Given the description of an element on the screen output the (x, y) to click on. 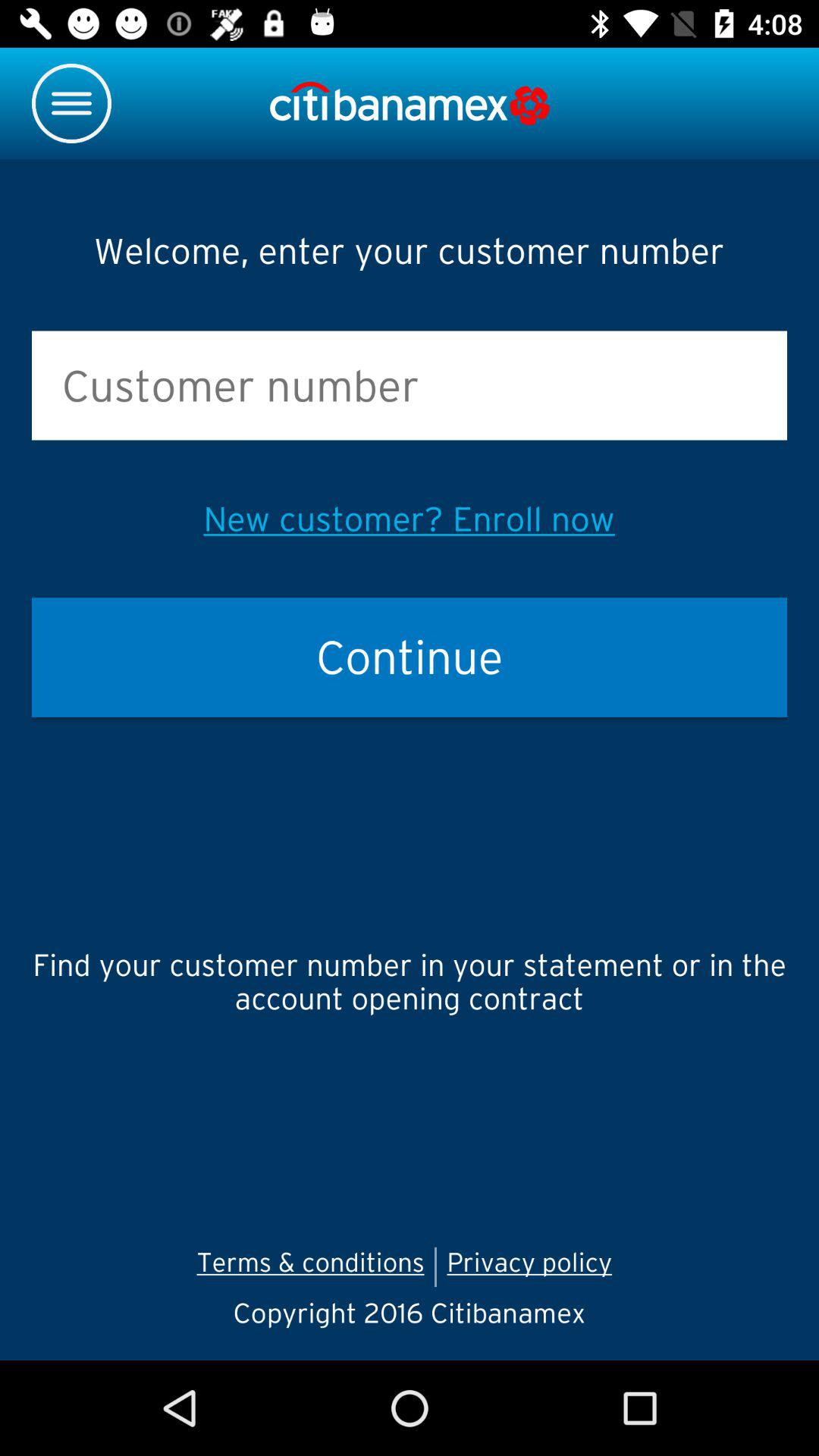
choose the privacy policy item (534, 1267)
